Given the description of an element on the screen output the (x, y) to click on. 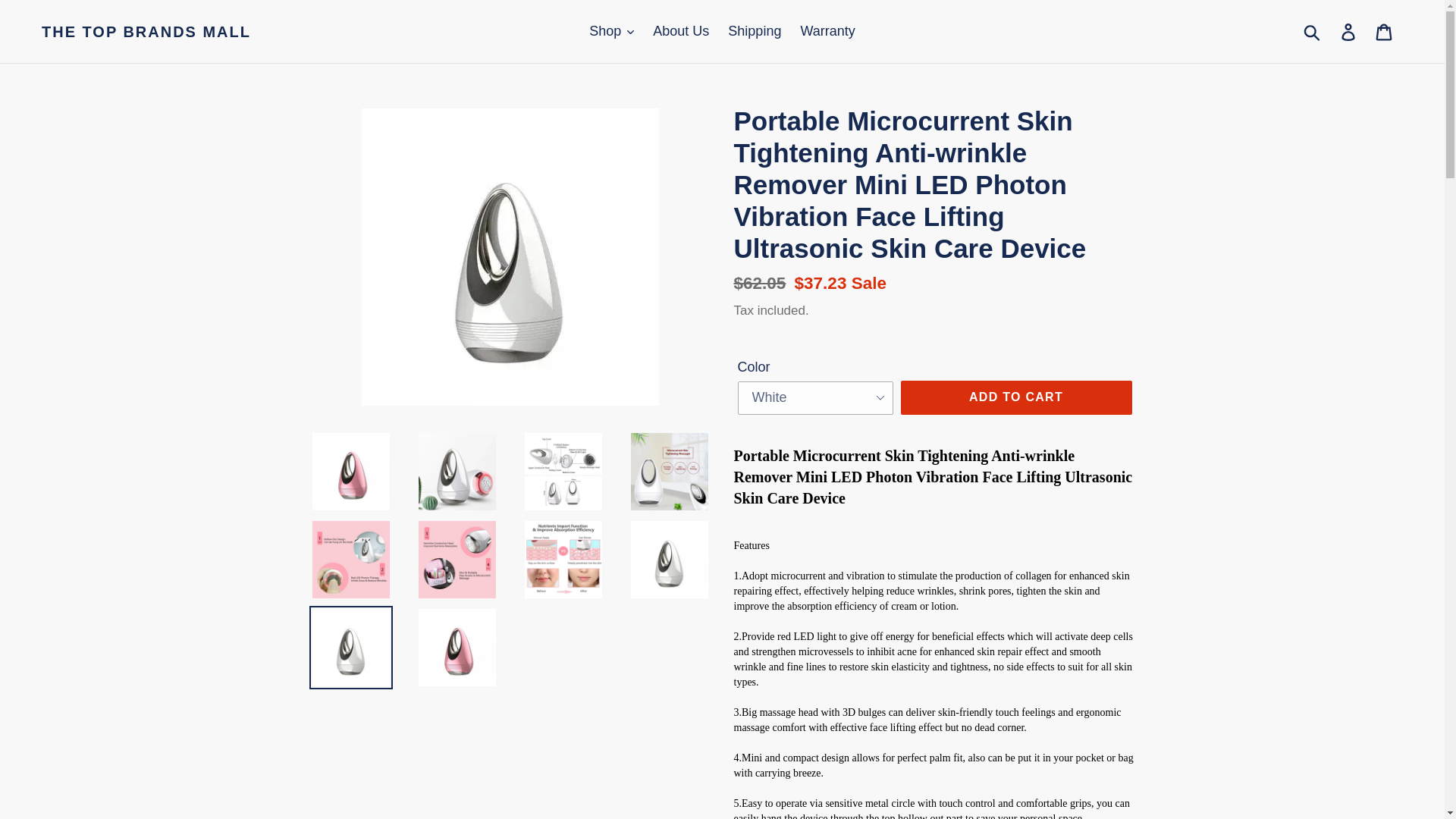
THE TOP BRANDS MALL (146, 31)
Log in (1349, 31)
Submit (1313, 31)
Warranty (826, 31)
Cart (1385, 31)
Shipping (754, 31)
About Us (680, 31)
